Given the description of an element on the screen output the (x, y) to click on. 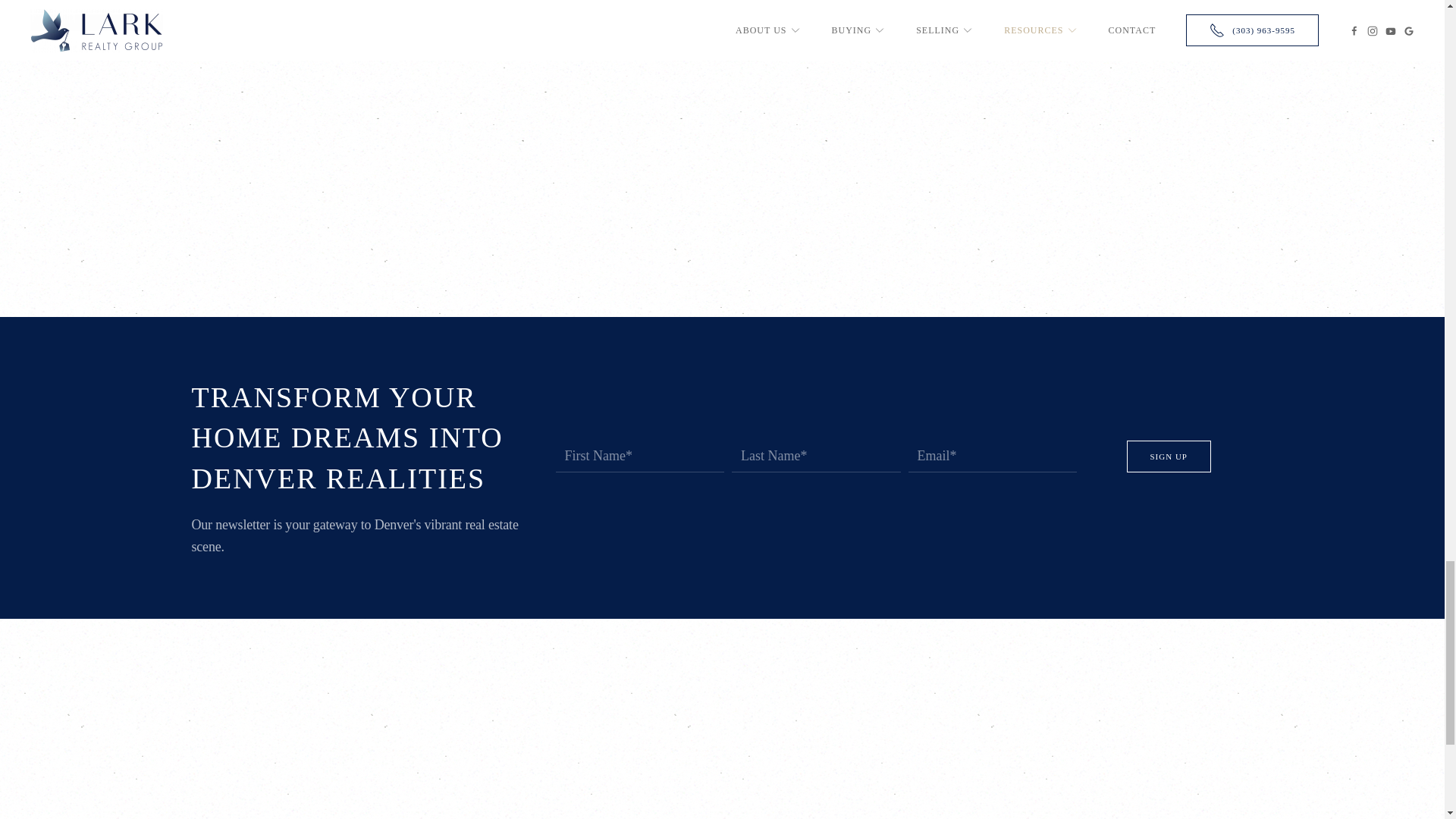
Sign Up (1168, 456)
